Given the description of an element on the screen output the (x, y) to click on. 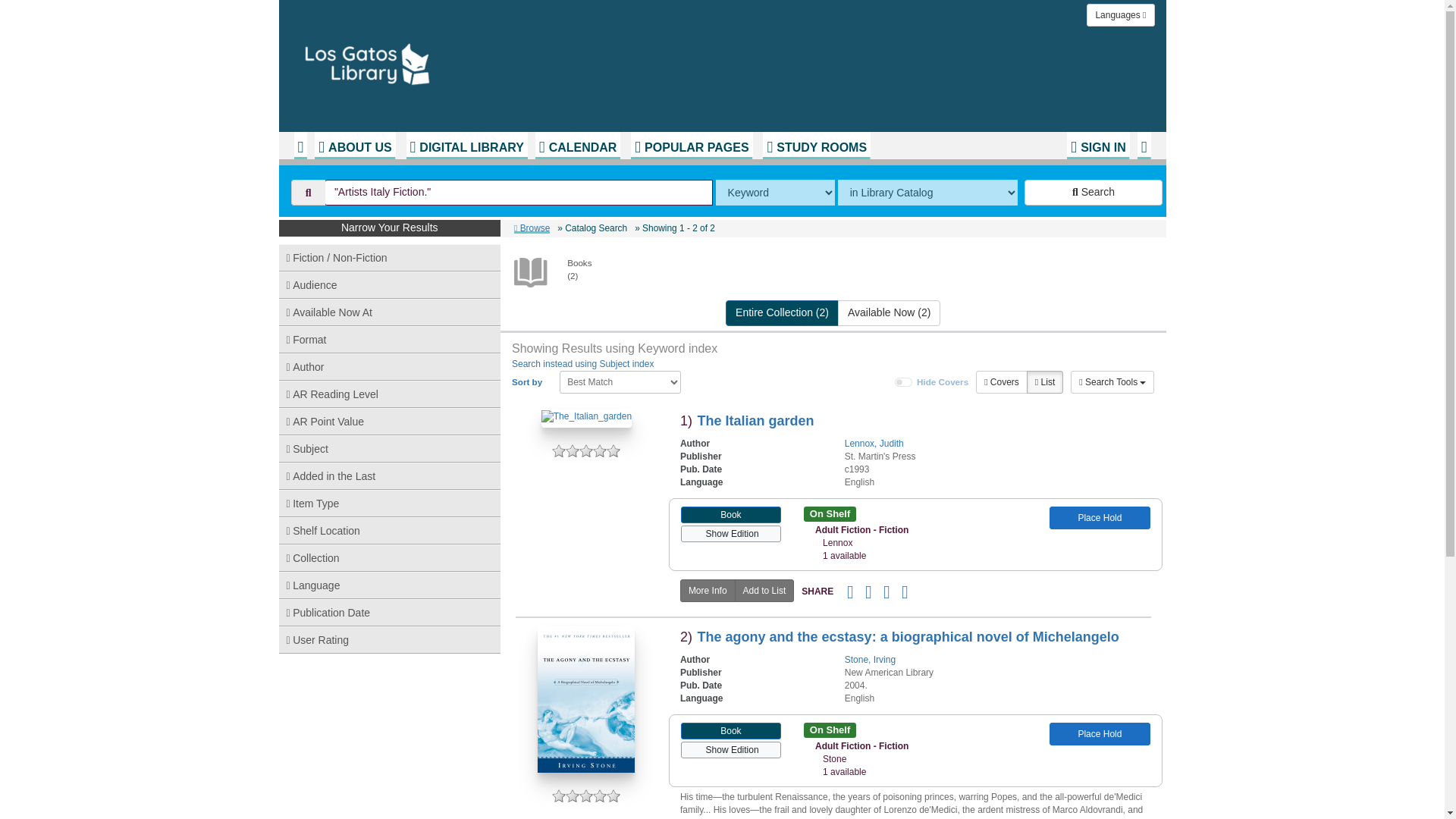
 Search (1093, 192)
DIGITAL LIBRARY (466, 144)
STUDY ROOMS (816, 144)
"Artists Italy Fiction." (518, 192)
Languages  (1120, 15)
CALENDAR (578, 144)
Library Home Page (483, 60)
POPULAR PAGES (691, 144)
SIGN IN (1098, 144)
on (903, 381)
